Given the description of an element on the screen output the (x, y) to click on. 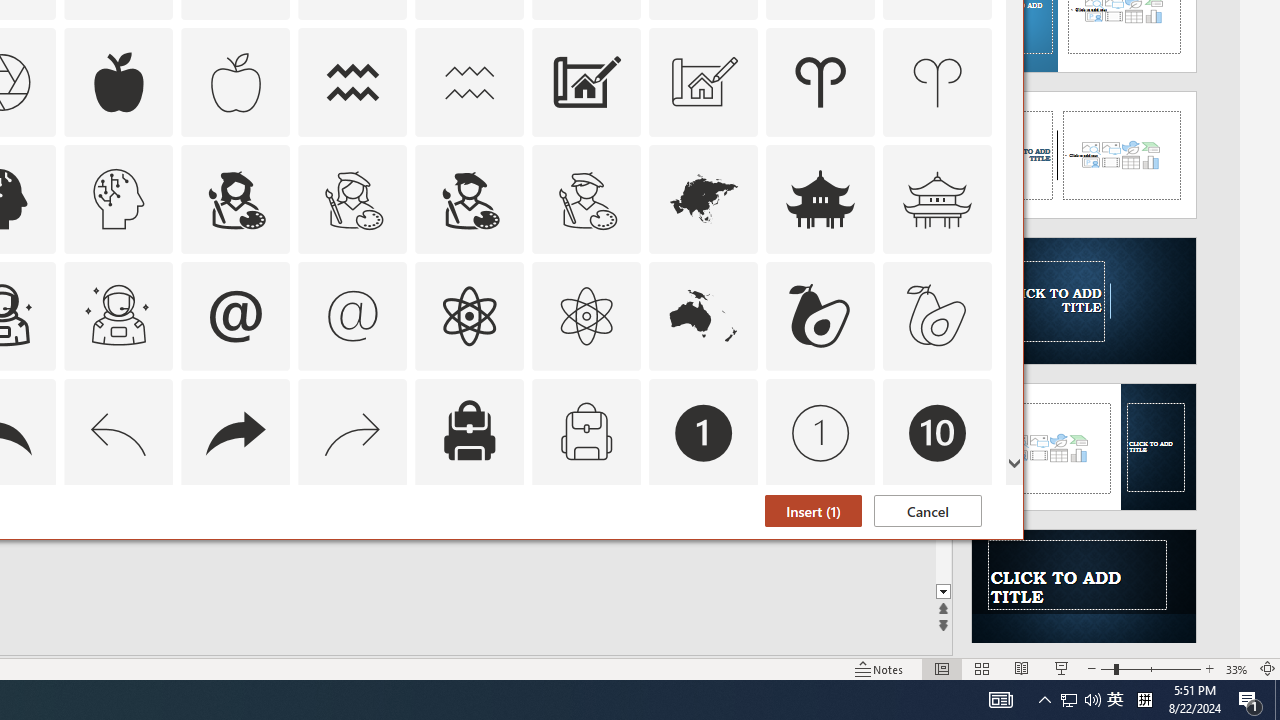
AutomationID: Icons_Badge10 (938, 432)
Cancel (927, 511)
AutomationID: Icons_Apple_M (235, 82)
AutomationID: Icons (937, 550)
AutomationID: Icons_Architecture_M (703, 82)
AutomationID: Icons_At (235, 316)
AutomationID: Icons_Badge9 (820, 550)
